Given the description of an element on the screen output the (x, y) to click on. 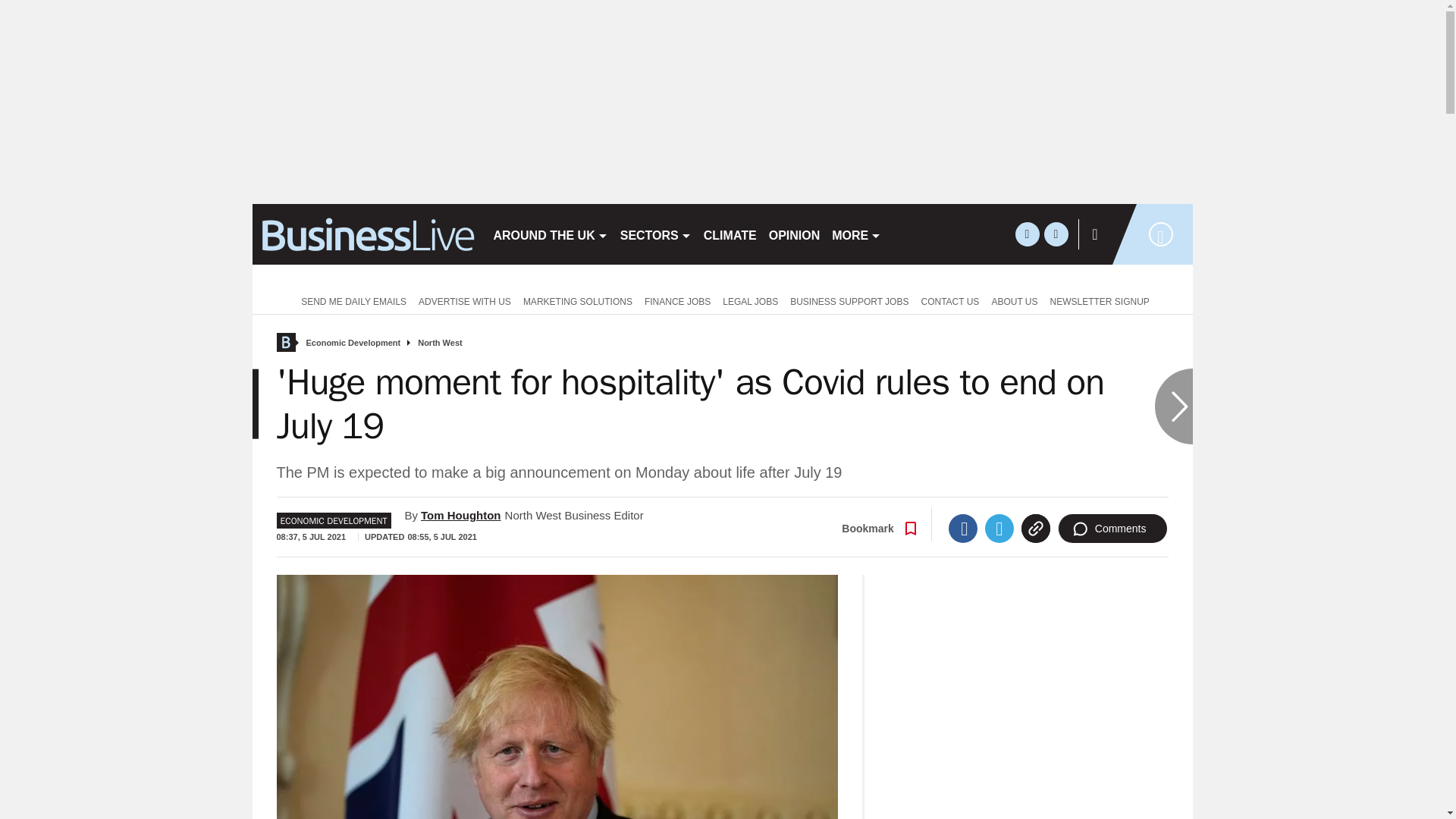
AROUND THE UK (549, 233)
MORE (855, 233)
SEND ME DAILY EMAILS (350, 300)
Comments (1112, 528)
MARKETING SOLUTIONS (577, 300)
FINANCE JOBS (677, 300)
OPINION (794, 233)
LEGAL JOBS (750, 300)
Facebook (962, 528)
Twitter (999, 528)
